Given the description of an element on the screen output the (x, y) to click on. 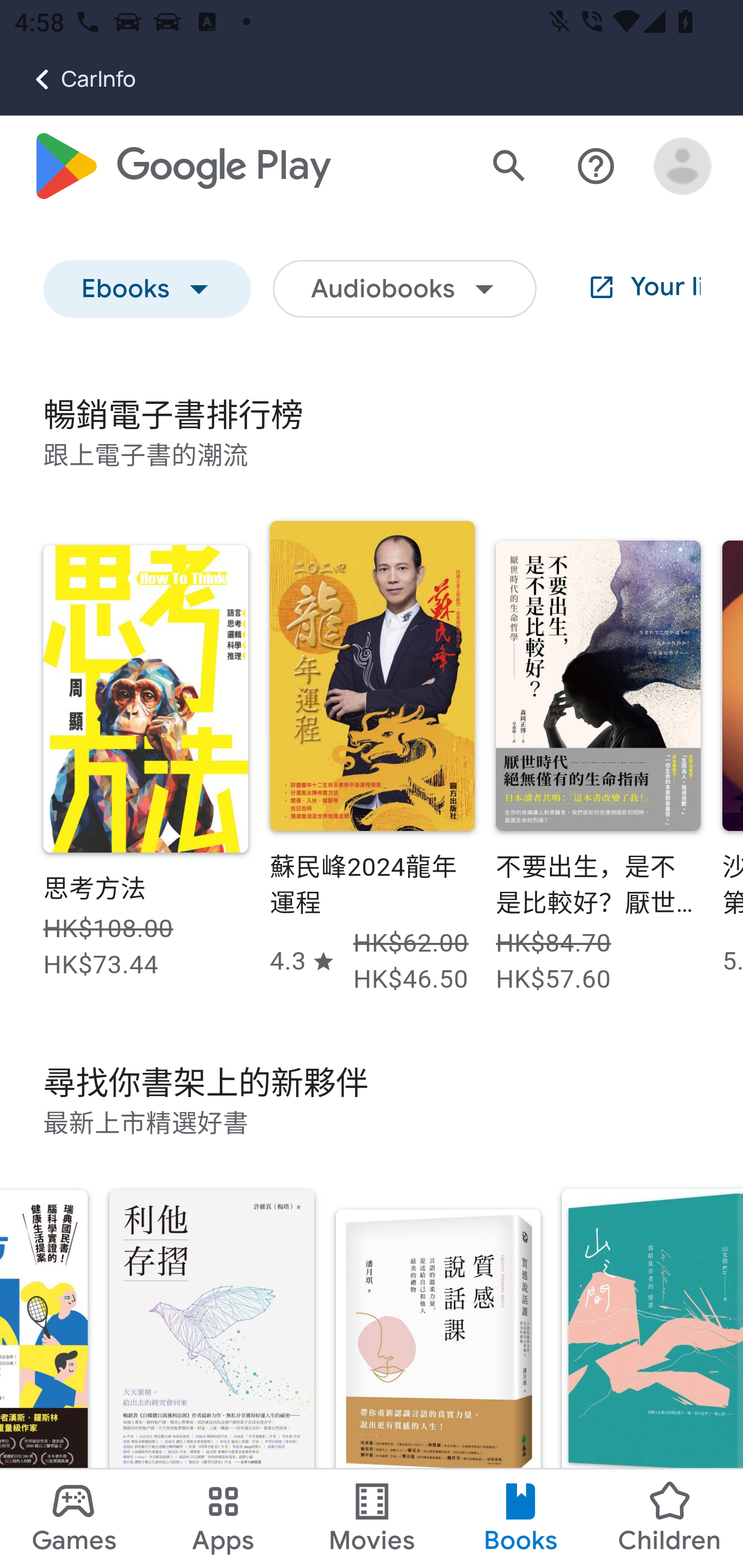
CarInfo (67, 79)
Google Play logo (180, 166)
Search (508, 166)
Help centre (596, 166)
Open account menu (682, 166)
Ebooks (147, 289)
Audiobooks (404, 289)
Your library (629, 289)
Games (74, 1518)
Apps (222, 1518)
Movies (372, 1518)
Books (520, 1518)
Children (668, 1518)
